Given the description of an element on the screen output the (x, y) to click on. 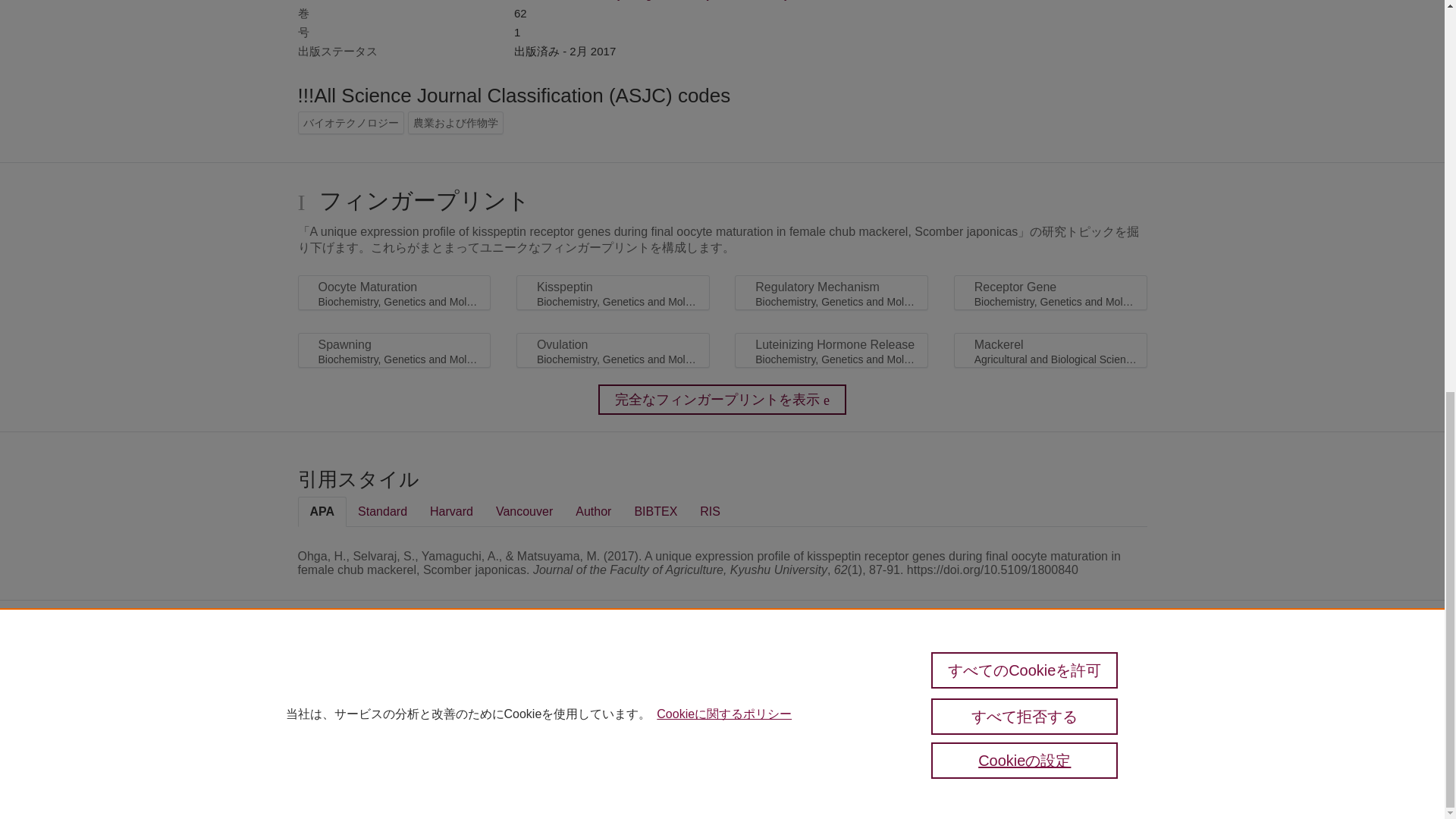
Pure (330, 676)
Scopus (362, 676)
